Given the description of an element on the screen output the (x, y) to click on. 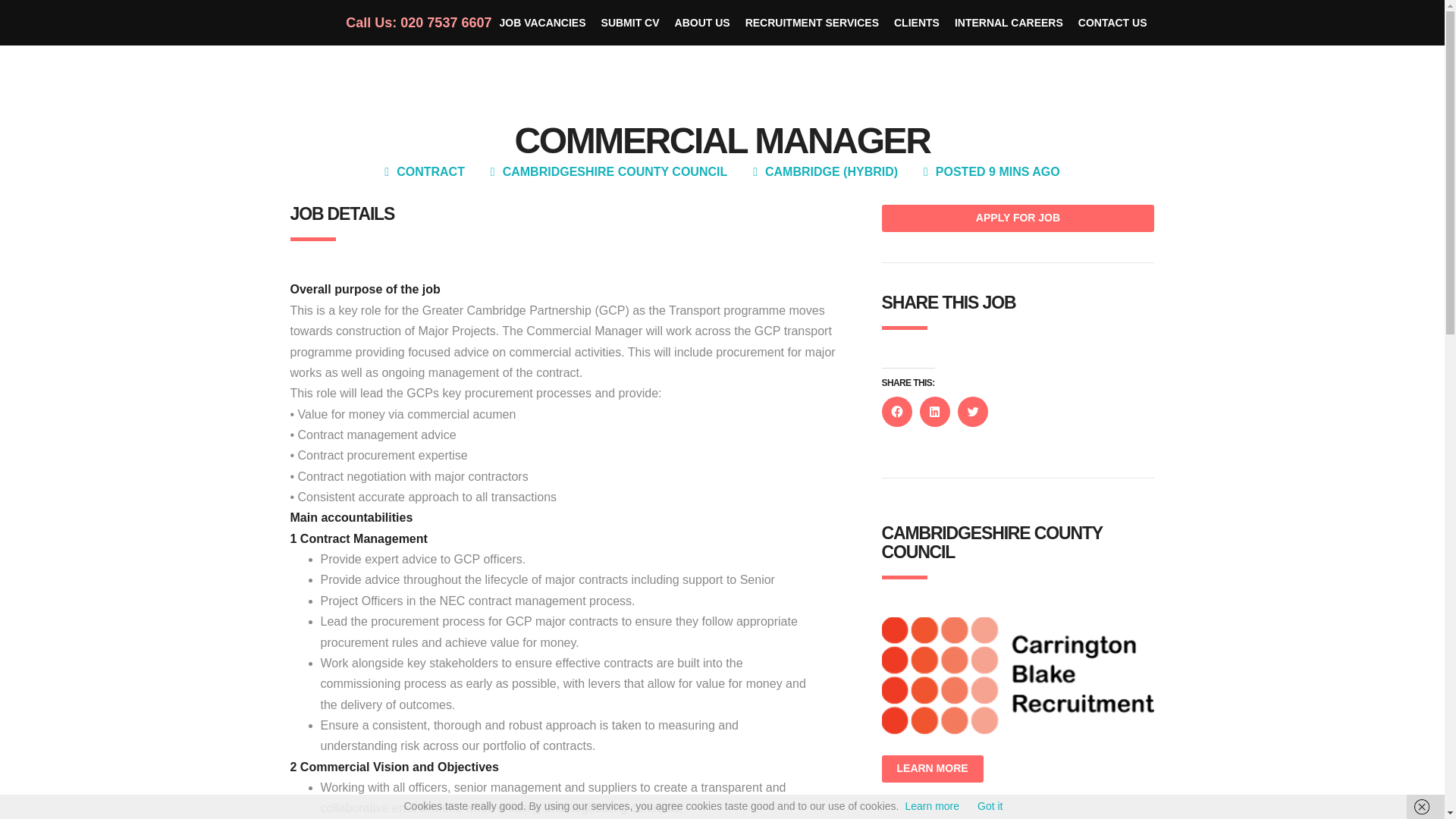
Click to share on Twitter (971, 411)
CONTACT US (1112, 22)
JOB VACANCIES (542, 22)
Click to share on Facebook (895, 411)
CAMBRIDGESHIRE COUNTY COUNCIL (615, 171)
Apply for job (1017, 217)
INTERNAL CAREERS (1008, 22)
SUBMIT CV (630, 22)
LEARN MORE (931, 768)
ABOUT US (702, 22)
